Given the description of an element on the screen output the (x, y) to click on. 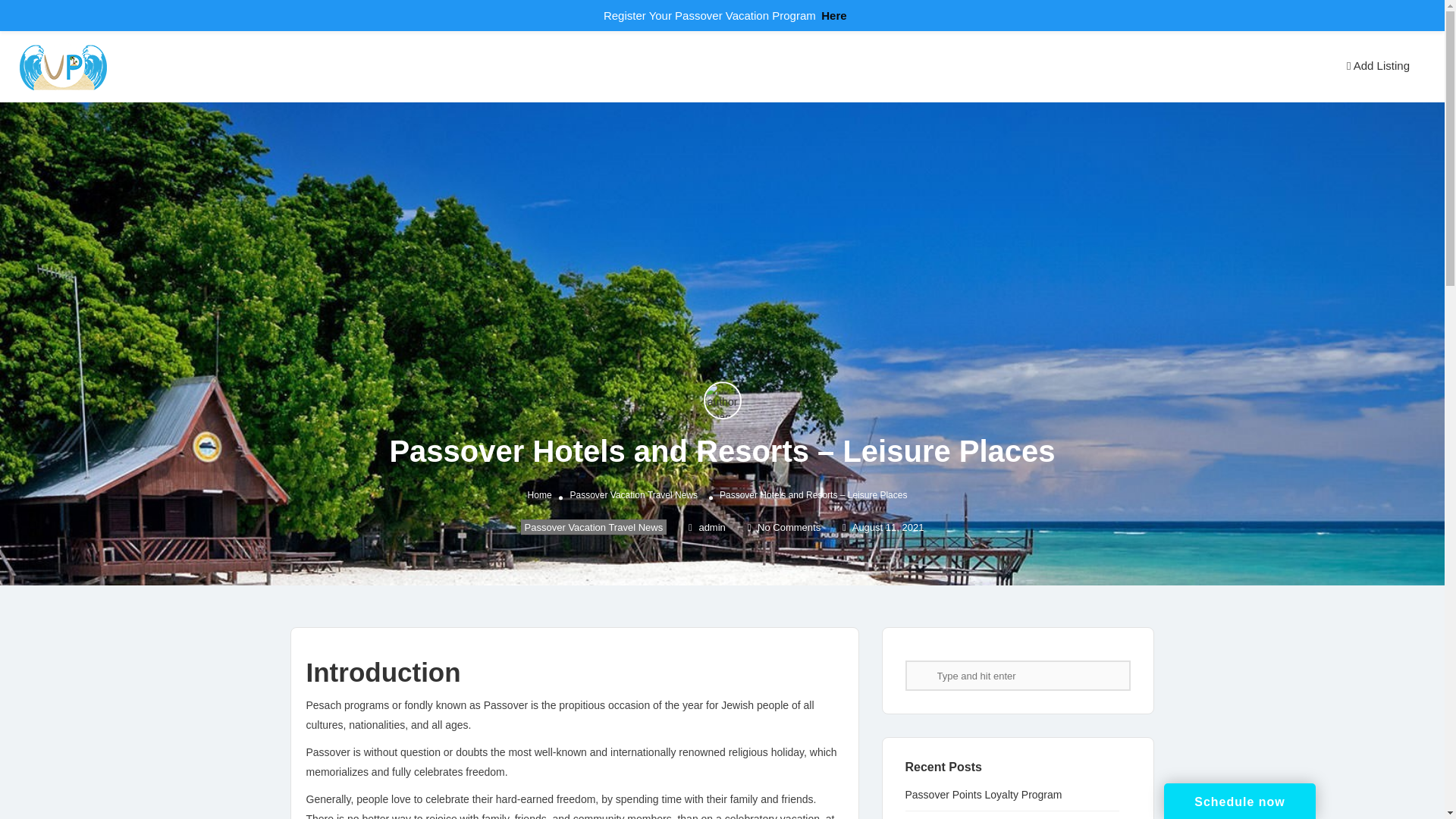
Home (539, 494)
admin (706, 527)
No Comments (784, 527)
Add Listing (1377, 65)
Passover Points Loyalty Program (991, 794)
Passover Vacation Travel News (593, 526)
Sign In (1306, 66)
Passover Vacation Travel News (633, 494)
